Given the description of an element on the screen output the (x, y) to click on. 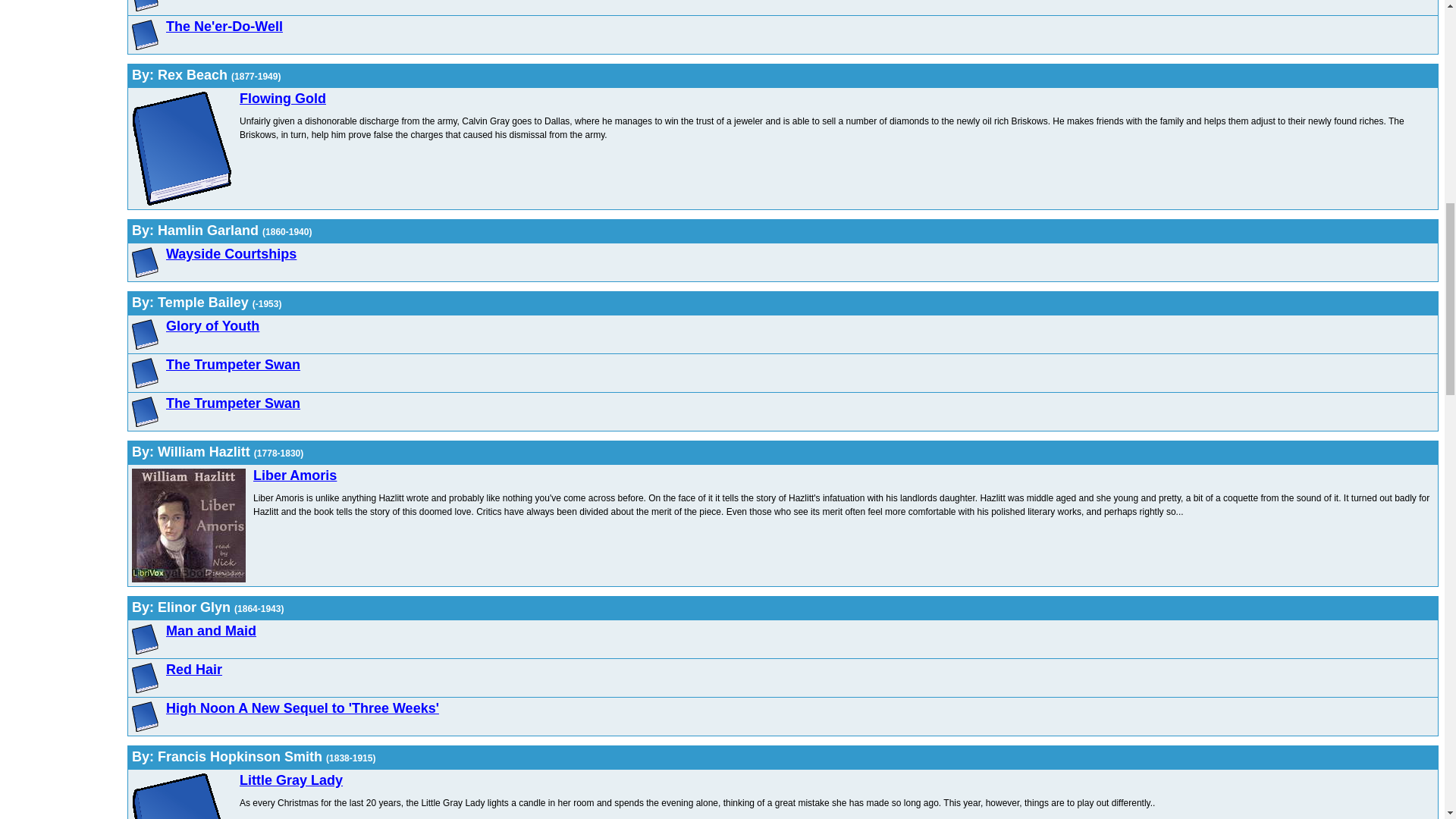
The Trumpeter Swan (232, 364)
The Ne'er-Do-Well (223, 26)
Wayside Courtships (231, 253)
Flowing Gold (283, 98)
Glory of Youth (212, 325)
